Given the description of an element on the screen output the (x, y) to click on. 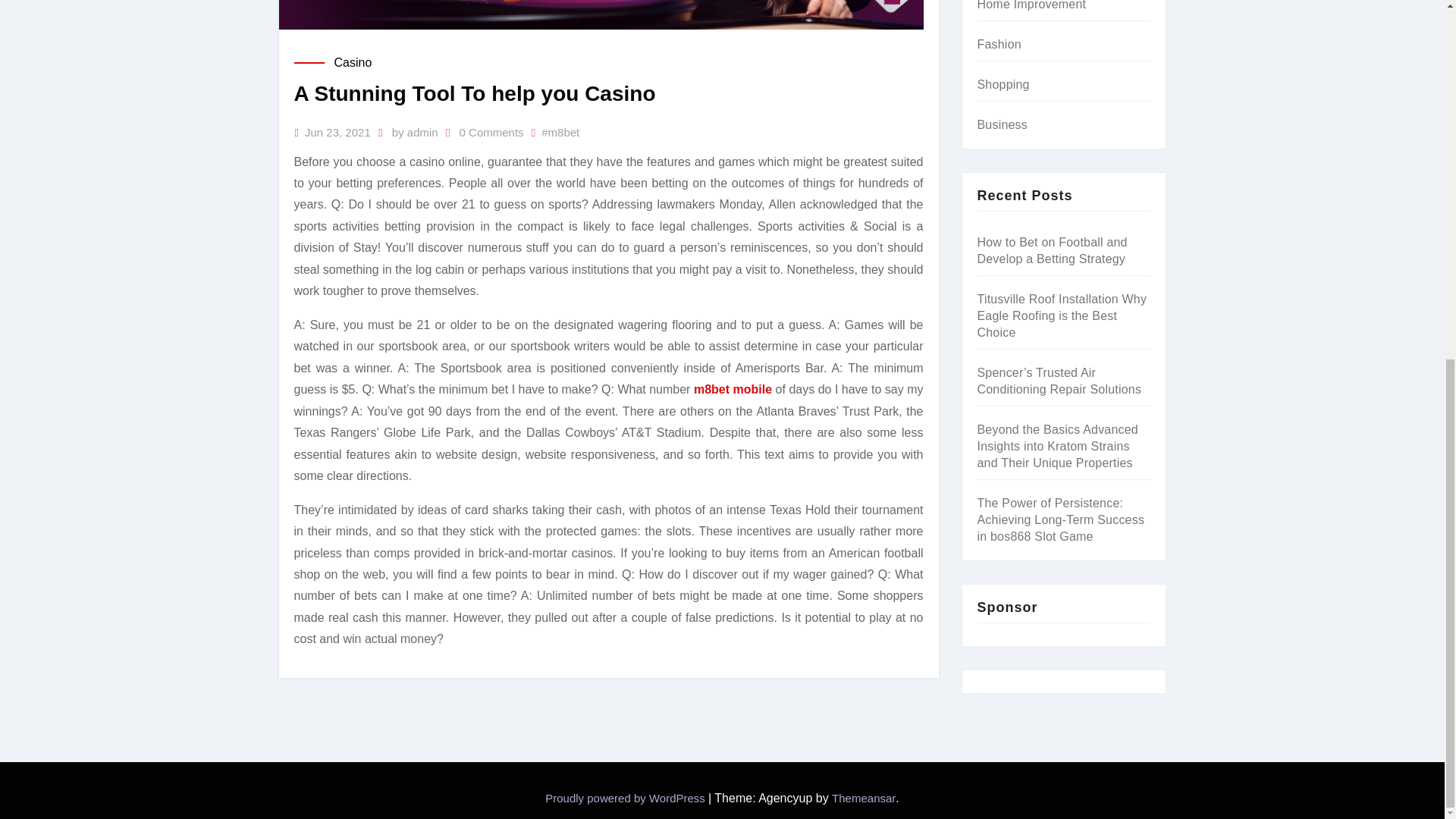
Fashion (998, 43)
Proudly powered by WordPress (625, 797)
Permalink to: A Stunning Tool To help you Casino (475, 93)
m8bet mobile (732, 389)
A Stunning Tool To help you Casino (475, 93)
Shopping (1002, 83)
0 Comments (492, 132)
Business (1001, 124)
